Given the description of an element on the screen output the (x, y) to click on. 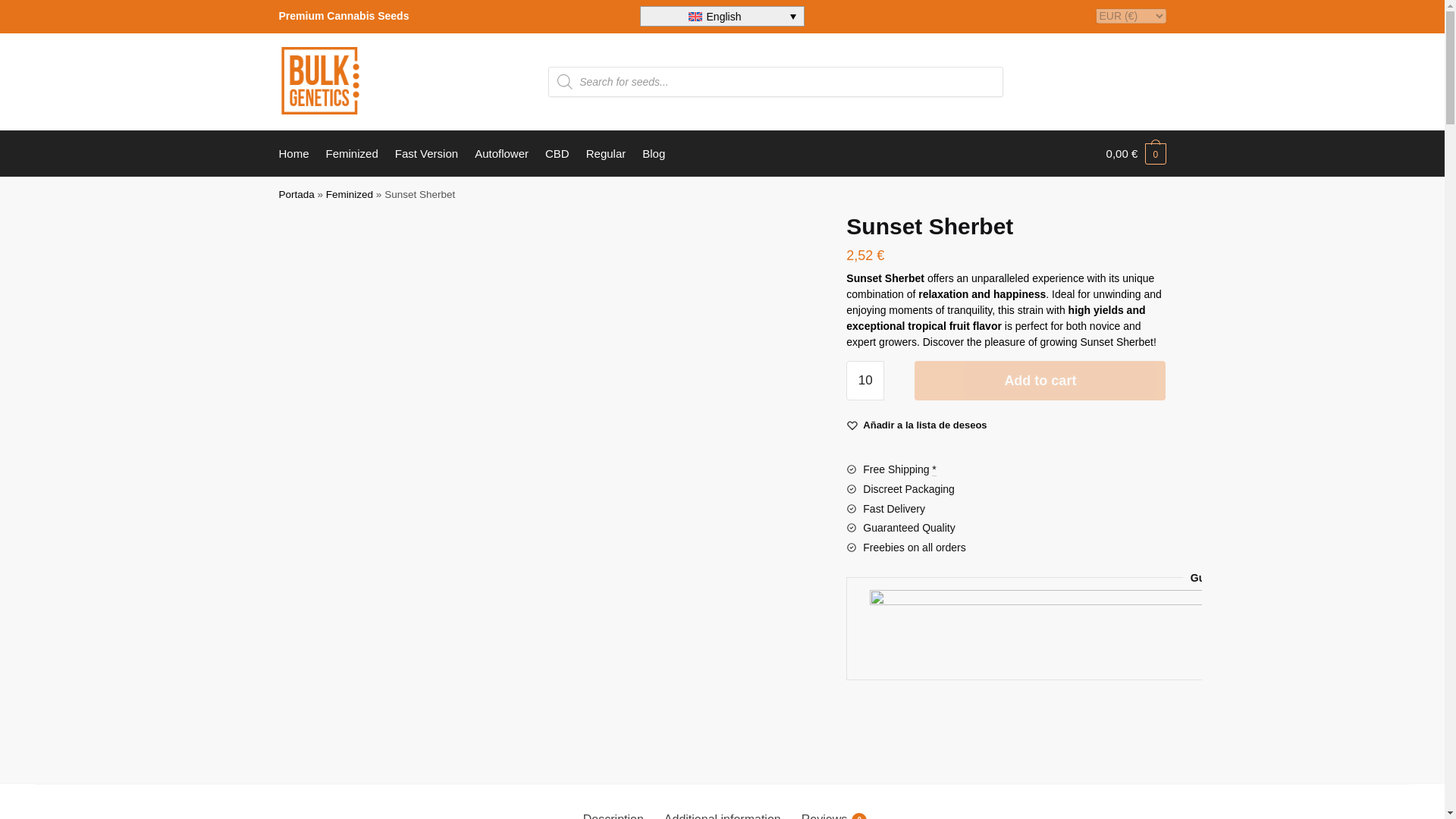
Autoflower (501, 153)
Additional information (722, 810)
Fast Version (426, 153)
Portada (831, 810)
Regular (296, 194)
Description (605, 153)
Feminized (613, 810)
10 (349, 194)
